Given the description of an element on the screen output the (x, y) to click on. 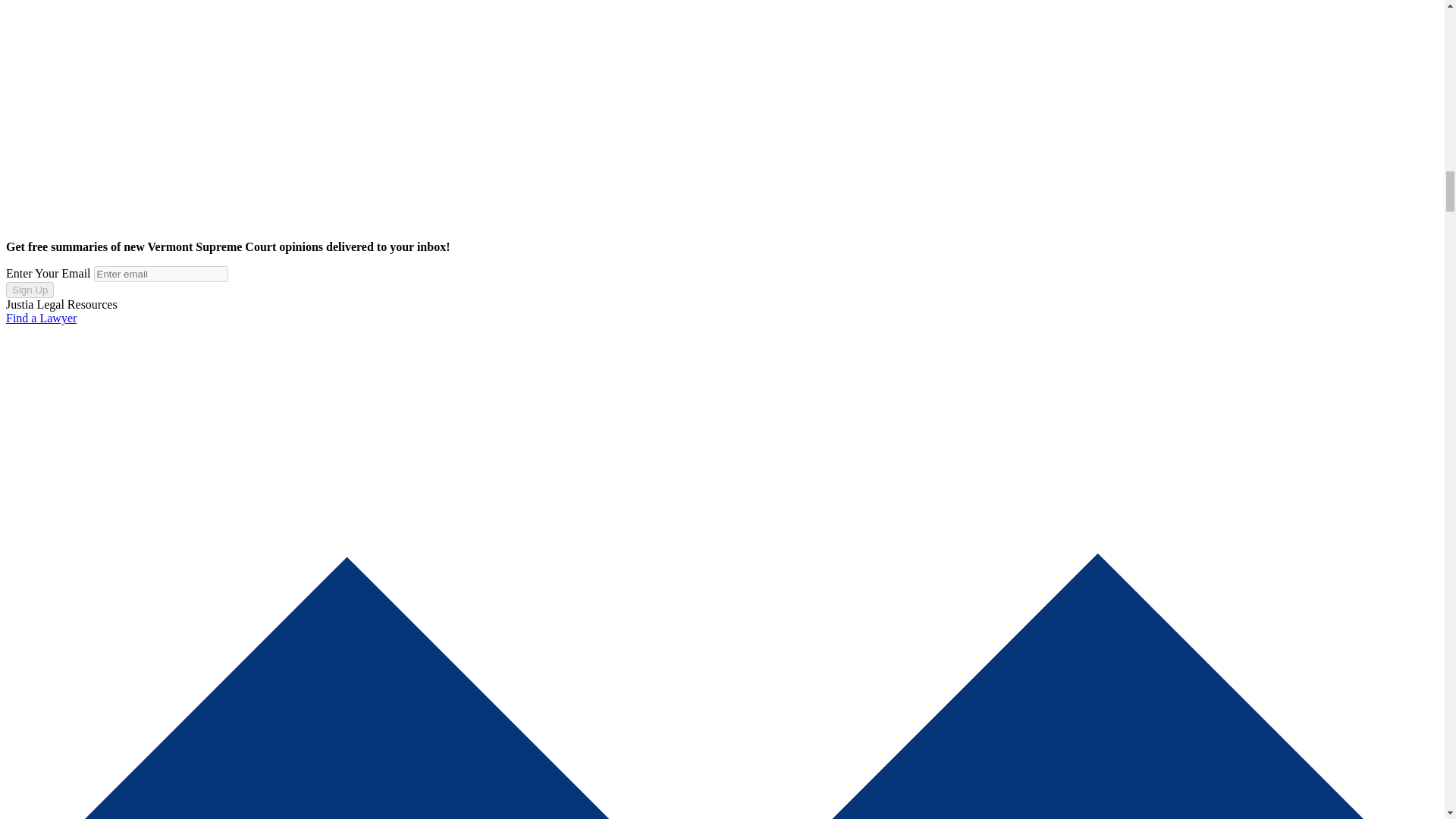
Enter email (161, 273)
